Given the description of an element on the screen output the (x, y) to click on. 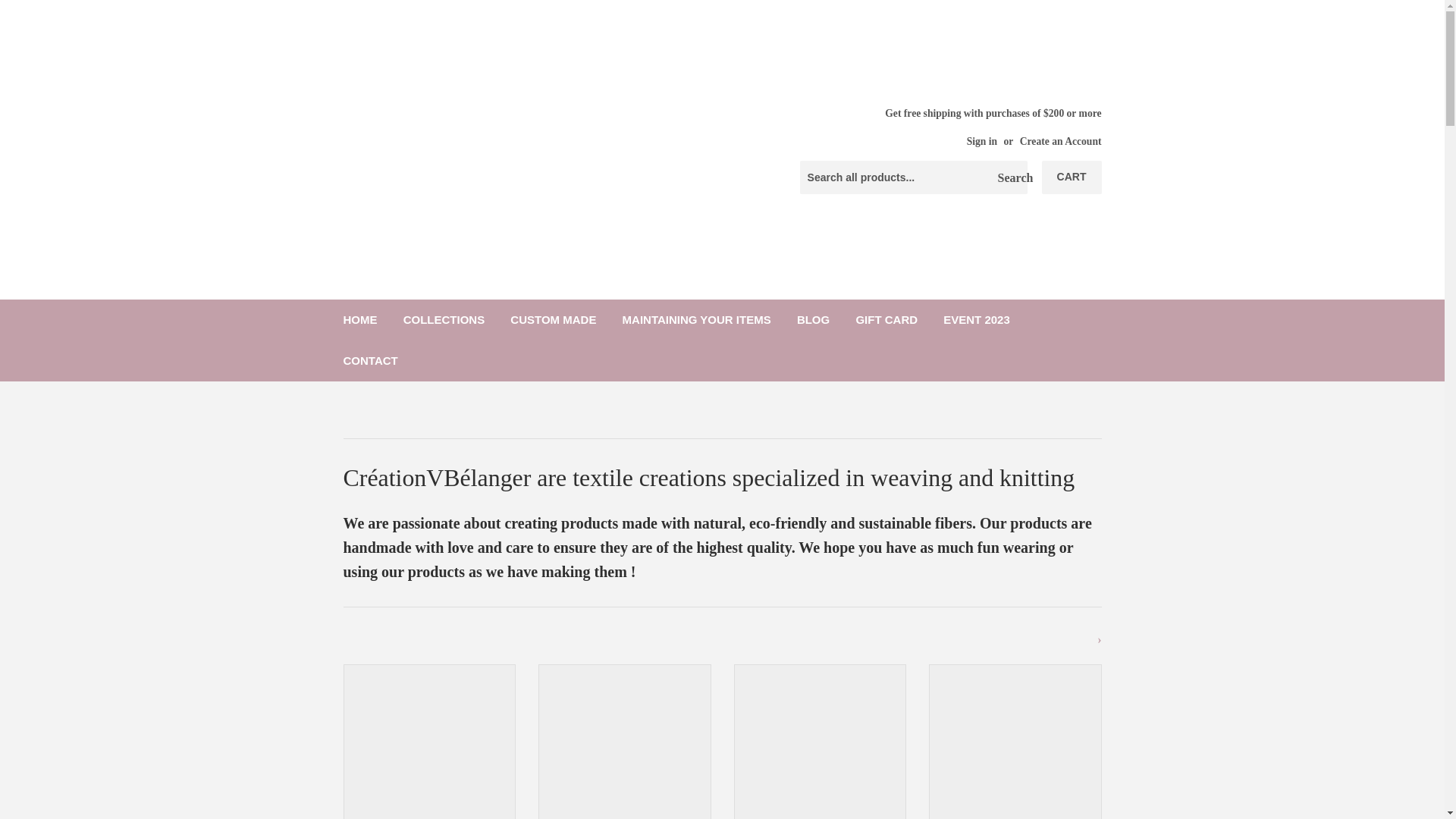
Sign in (981, 140)
CART (1072, 177)
Search (1009, 178)
Create an Account (1061, 140)
Browse our Bath and beach towels collection (1015, 741)
Browse our Hand knitted or woven shawls collection (428, 741)
Browse our Blankets, handmade collection (820, 741)
Browse our Boleros and ponchos, handmade collection (624, 741)
